Given the description of an element on the screen output the (x, y) to click on. 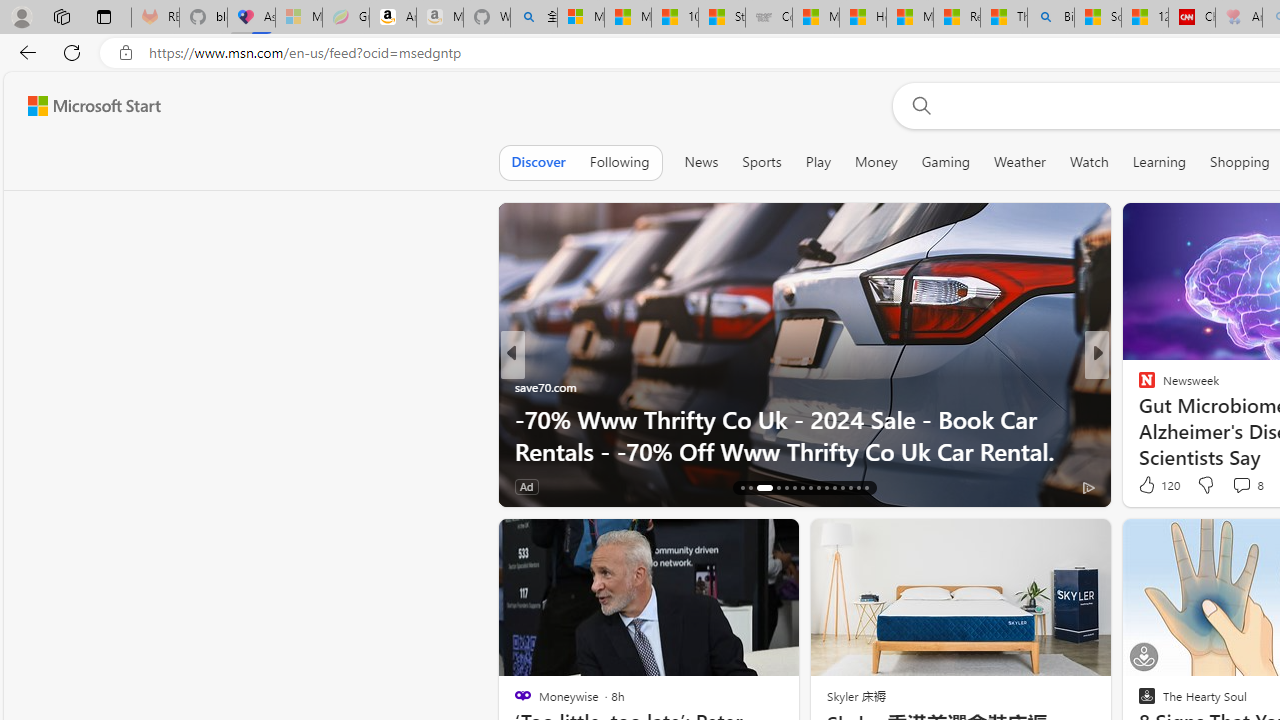
354 Like (1151, 486)
706 Like (1151, 486)
Newsweek (1138, 386)
AutomationID: tab-17 (750, 487)
AutomationID: tab-24 (818, 487)
View comments 2 Comment (1234, 485)
View comments 392 Comment (11, 485)
View comments 4 Comment (1229, 485)
AutomationID: tab-28 (850, 487)
